Given the description of an element on the screen output the (x, y) to click on. 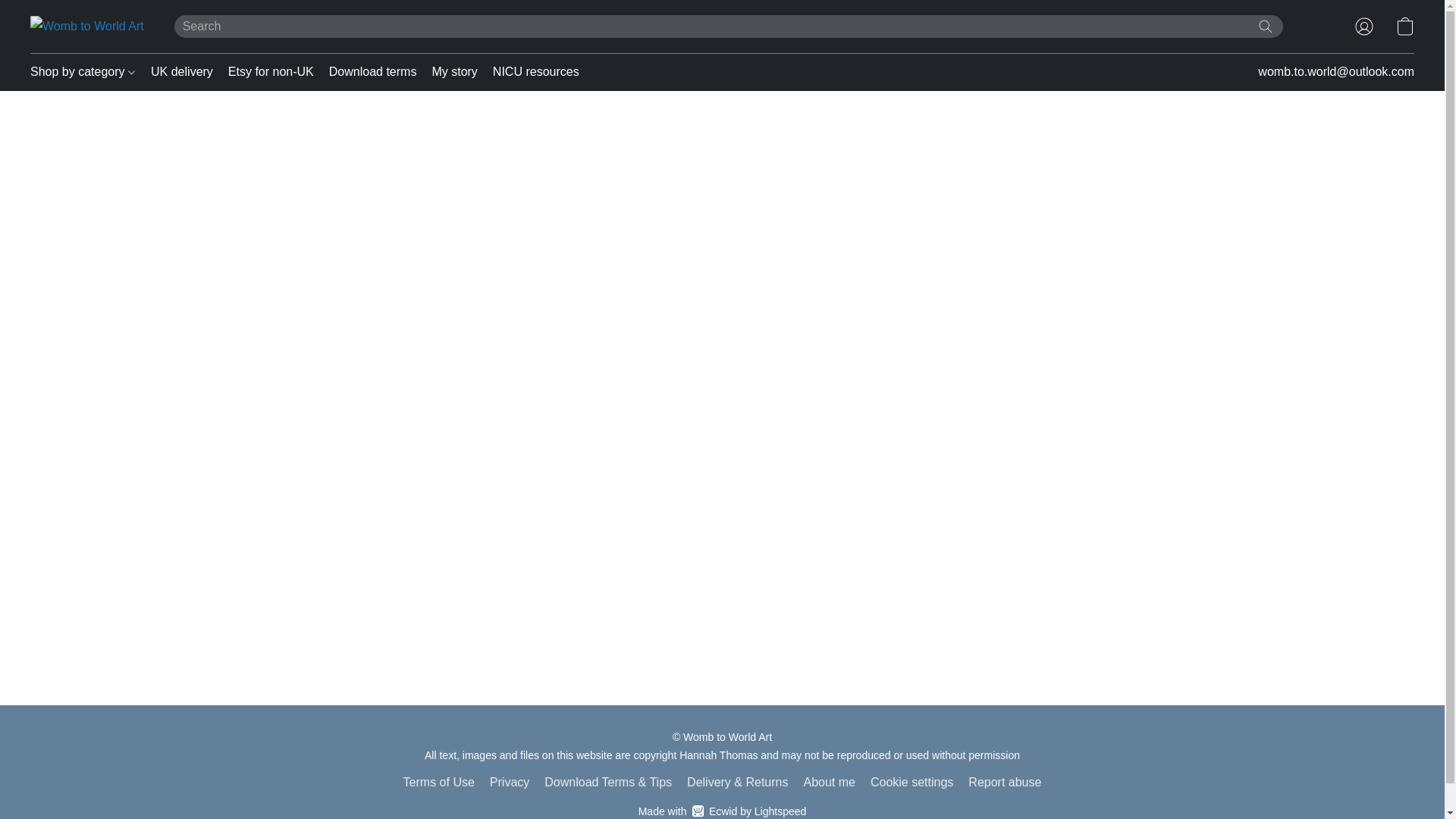
Etsy for non-UK (271, 71)
Terms of Use (438, 782)
Go to your shopping cart (1404, 26)
Download terms (373, 71)
UK delivery (181, 71)
My story (453, 71)
NICU resources (722, 810)
Cookie settings (531, 71)
Report abuse (911, 782)
